Given the description of an element on the screen output the (x, y) to click on. 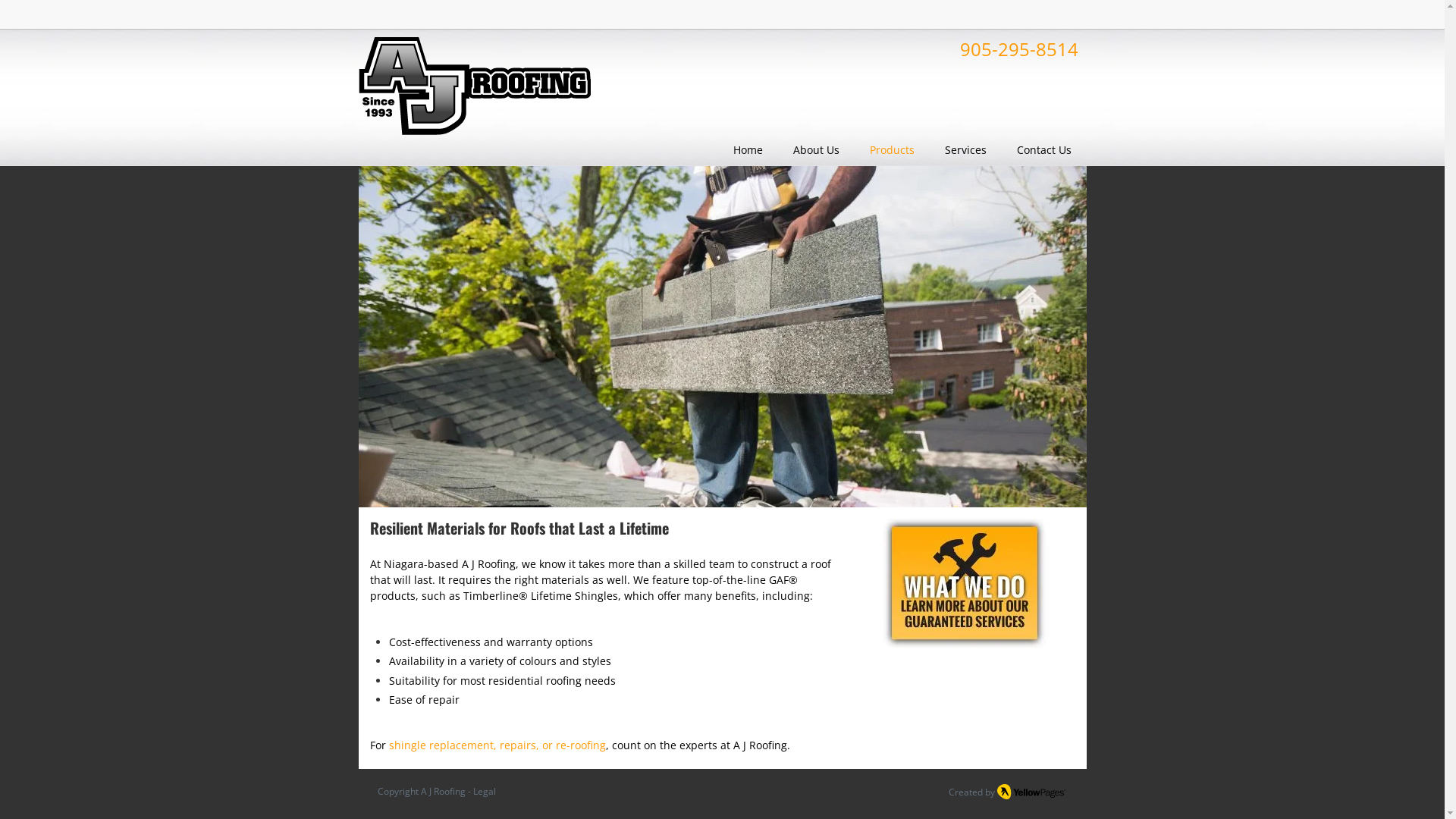
shingle replacement, repairs, or re-roofing Element type: text (496, 746)
Legal Element type: text (484, 791)
Products Element type: text (890, 149)
Home Element type: text (747, 149)
Embedded Content Element type: hover (1069, 18)
A J Roofing Element type: text (441, 790)
Services Element type: text (965, 149)
Embedded Content Element type: hover (960, 15)
905-295-8514 Element type: text (1019, 53)
Contact Us Element type: text (1043, 149)
About Us Element type: text (816, 149)
